Given the description of an element on the screen output the (x, y) to click on. 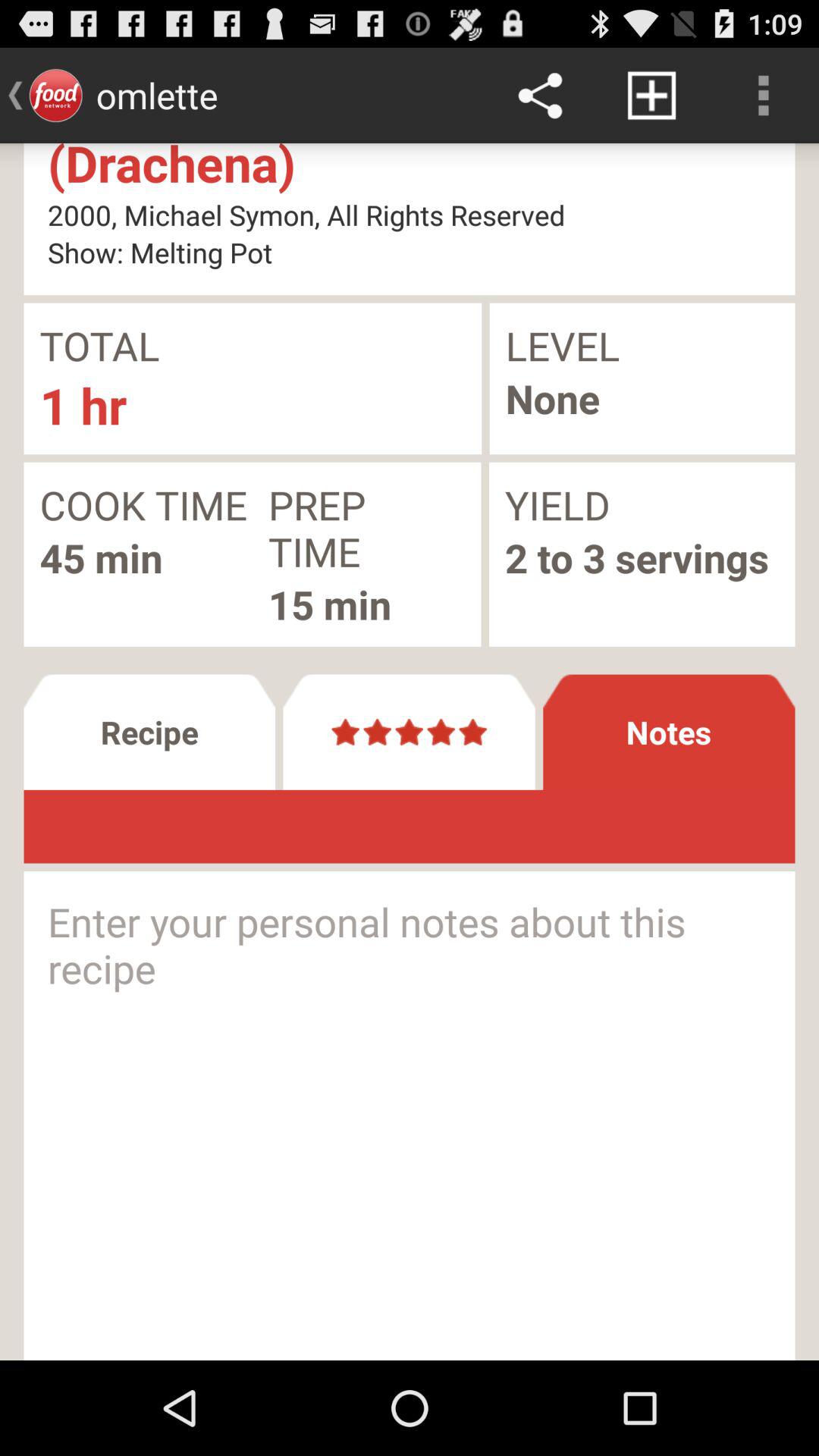
select the box with the text enter your personal notes about this recipe (409, 1114)
